Given the description of an element on the screen output the (x, y) to click on. 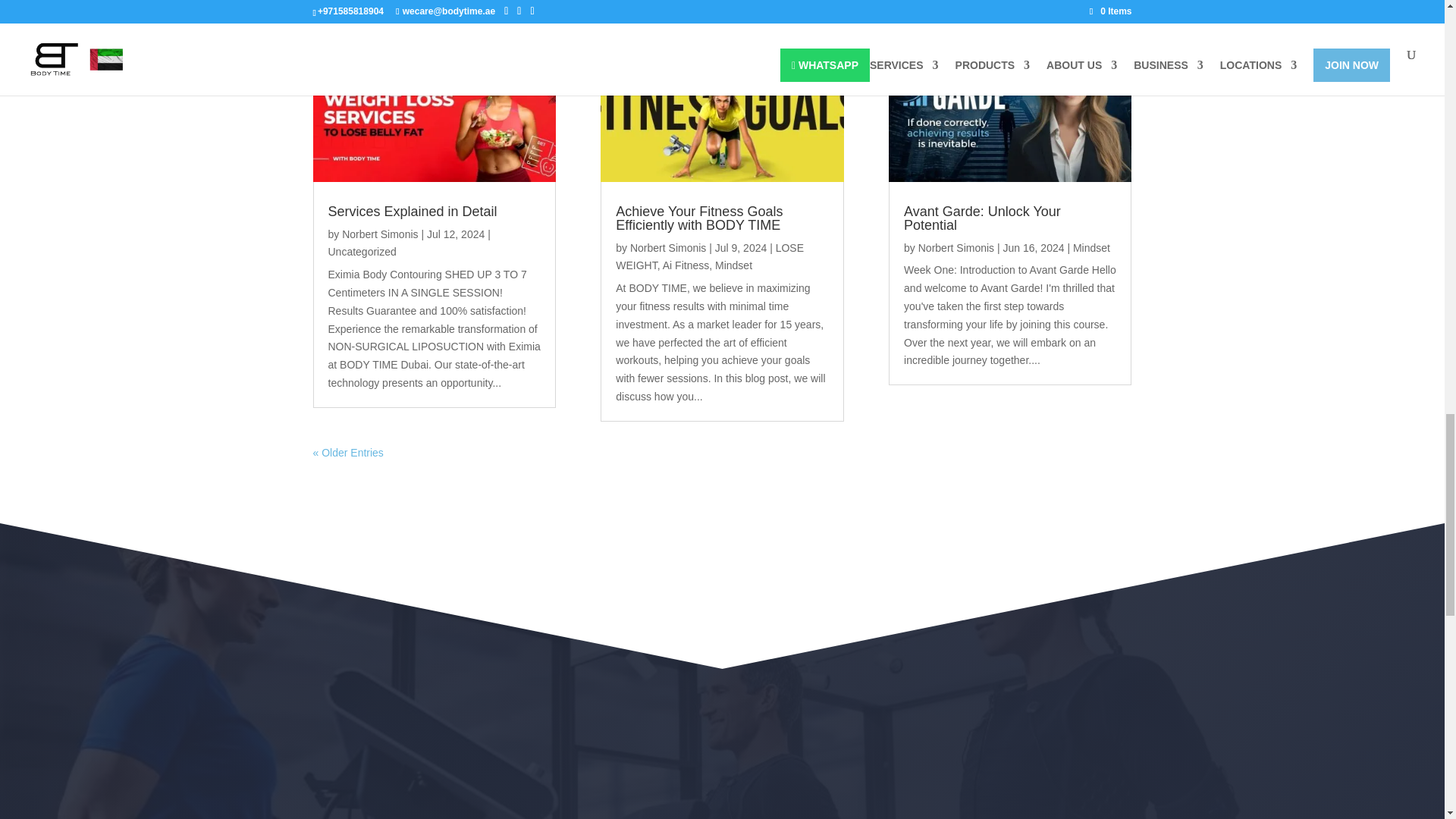
Posts by Norbert Simonis (668, 247)
Posts by Norbert Simonis (379, 234)
Posts by Norbert Simonis (956, 247)
